Given the description of an element on the screen output the (x, y) to click on. 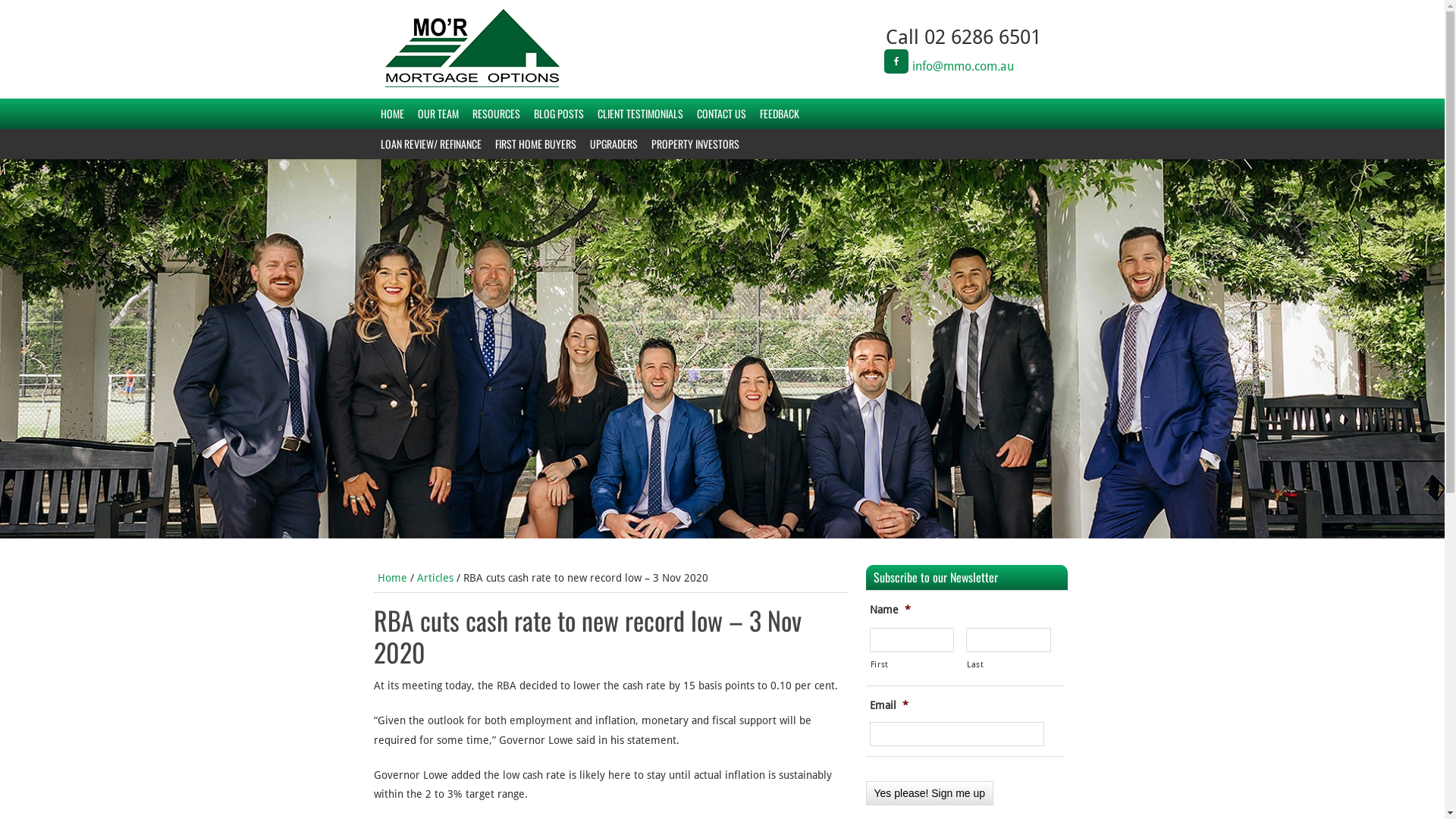
CLIENT TESTIMONIALS Element type: text (639, 113)
Articles Element type: text (435, 577)
RESOURCES Element type: text (496, 113)
CONTACT US Element type: text (721, 113)
BLOG POSTS Element type: text (557, 113)
HOME Element type: text (391, 113)
Yes please! Sign me up Element type: text (930, 793)
OUR TEAM Element type: text (438, 113)
PROPERTY INVESTORS Element type: text (695, 143)
FIRST HOME BUYERS Element type: text (535, 143)
UPGRADERS Element type: text (612, 143)
FEEDBACK Element type: text (778, 113)
LOAN REVIEW/ REFINANCE Element type: text (430, 143)
MO'R MORTGAGE OPTIONS Element type: text (513, 27)
Home Element type: text (392, 577)
info@mmo.com.au Element type: text (962, 66)
